Given the description of an element on the screen output the (x, y) to click on. 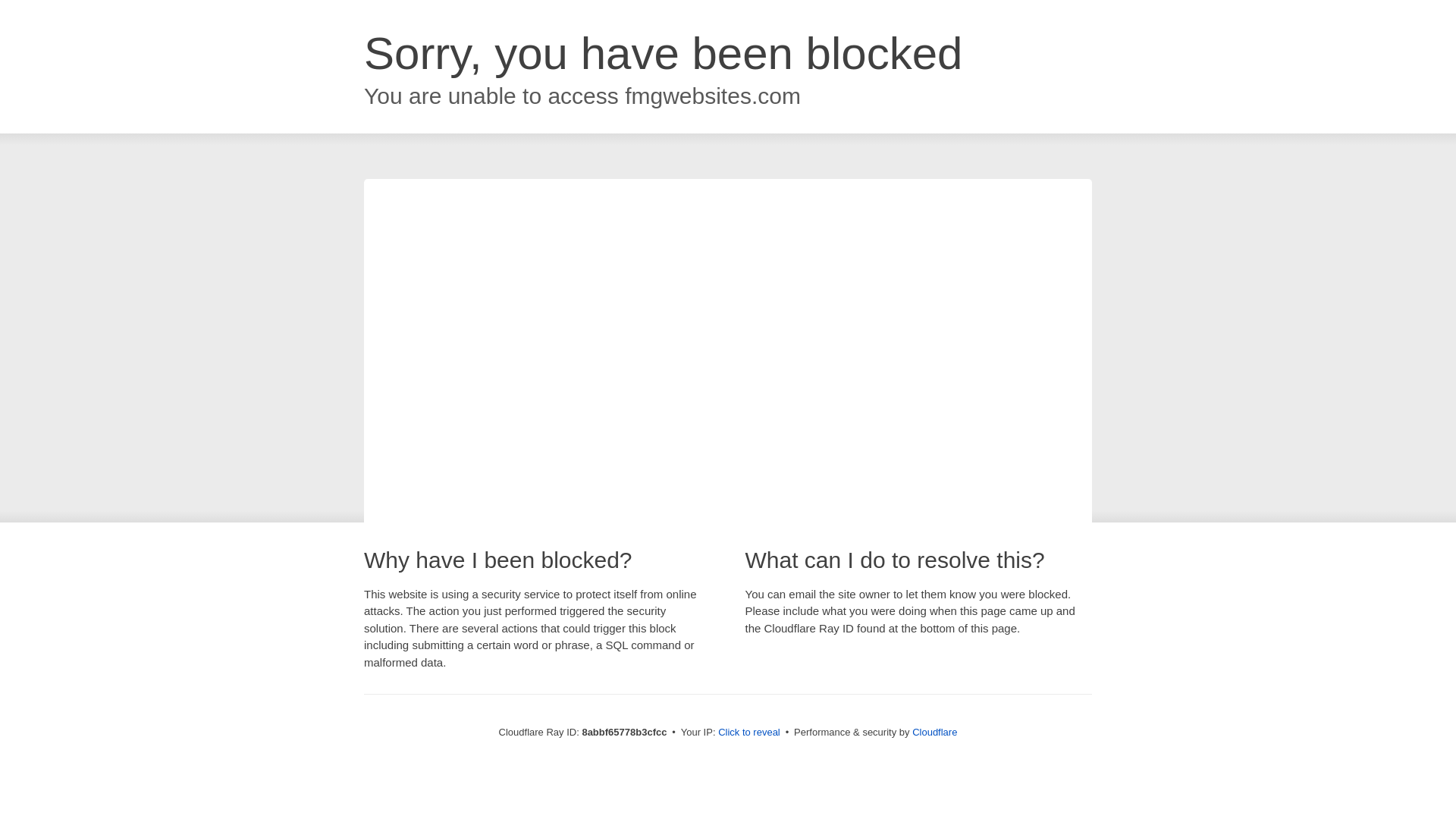
Cloudflare (934, 731)
Click to reveal (748, 732)
